Given the description of an element on the screen output the (x, y) to click on. 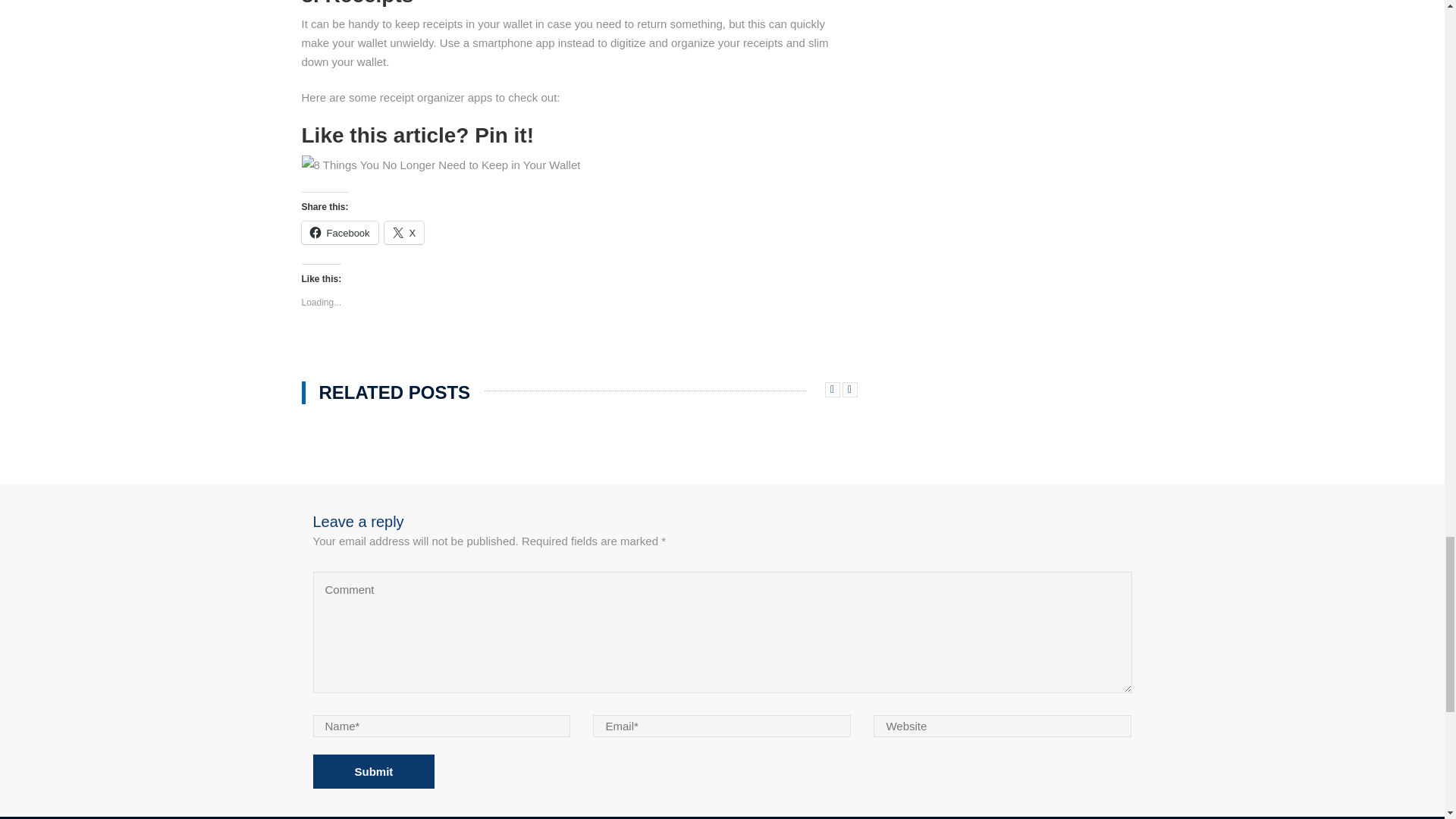
X (404, 232)
Click to share on X (404, 232)
Facebook (339, 232)
Click to share on Facebook (339, 232)
Submit (373, 771)
